Given the description of an element on the screen output the (x, y) to click on. 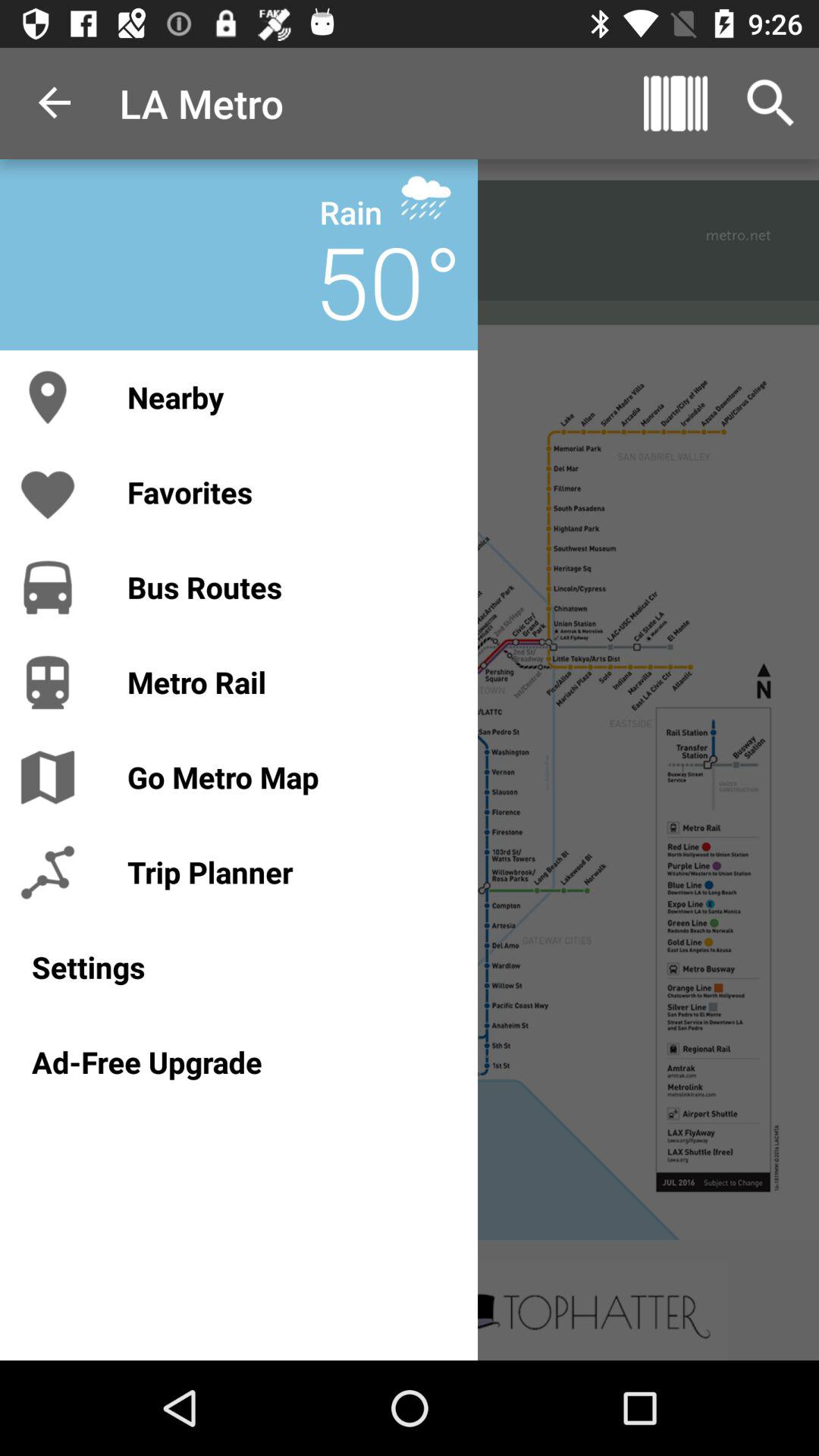
open trip planner item (286, 871)
